Given the description of an element on the screen output the (x, y) to click on. 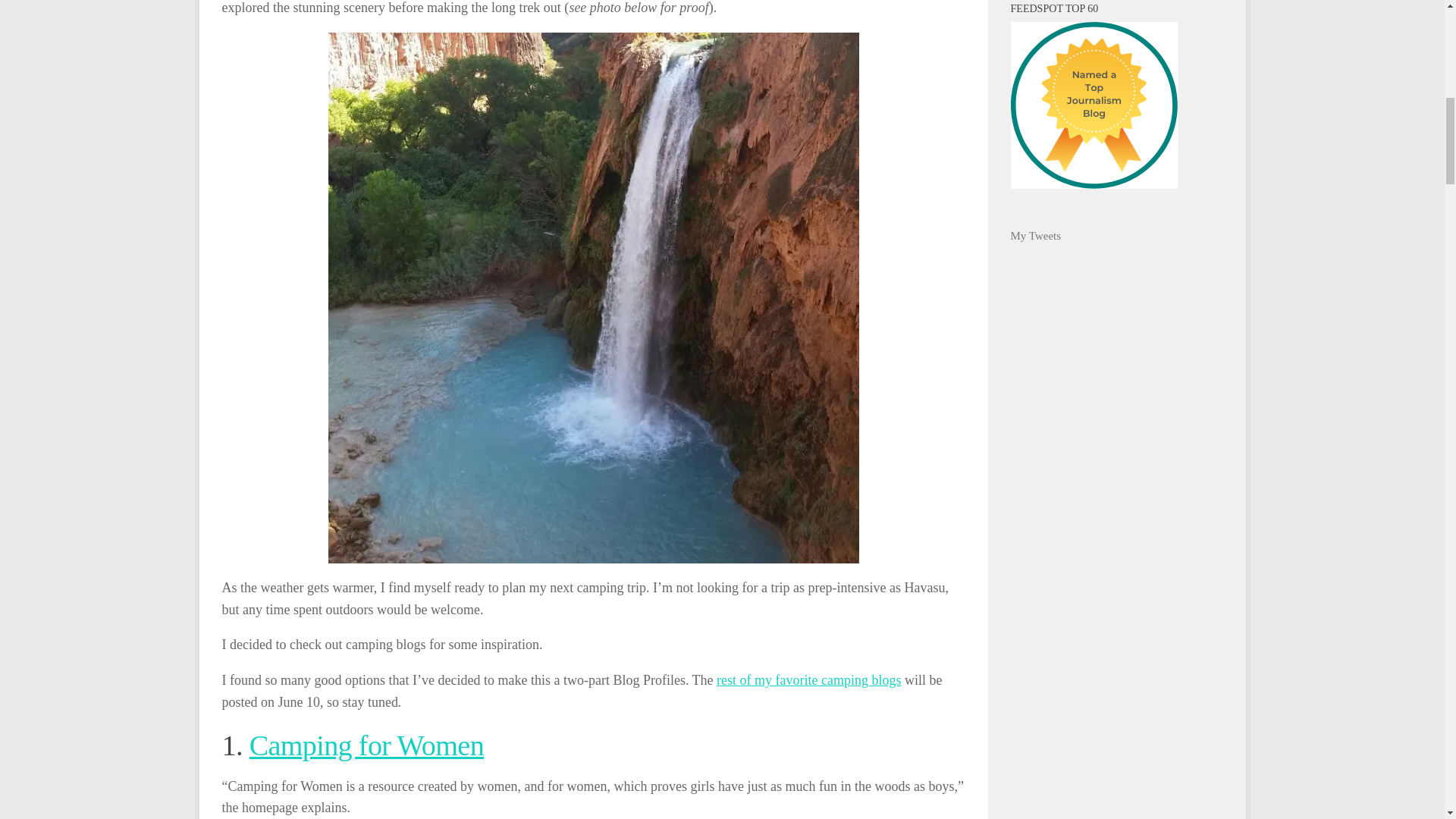
rest of my favorite camping blogs (808, 679)
Camping for Women (365, 745)
